Given the description of an element on the screen output the (x, y) to click on. 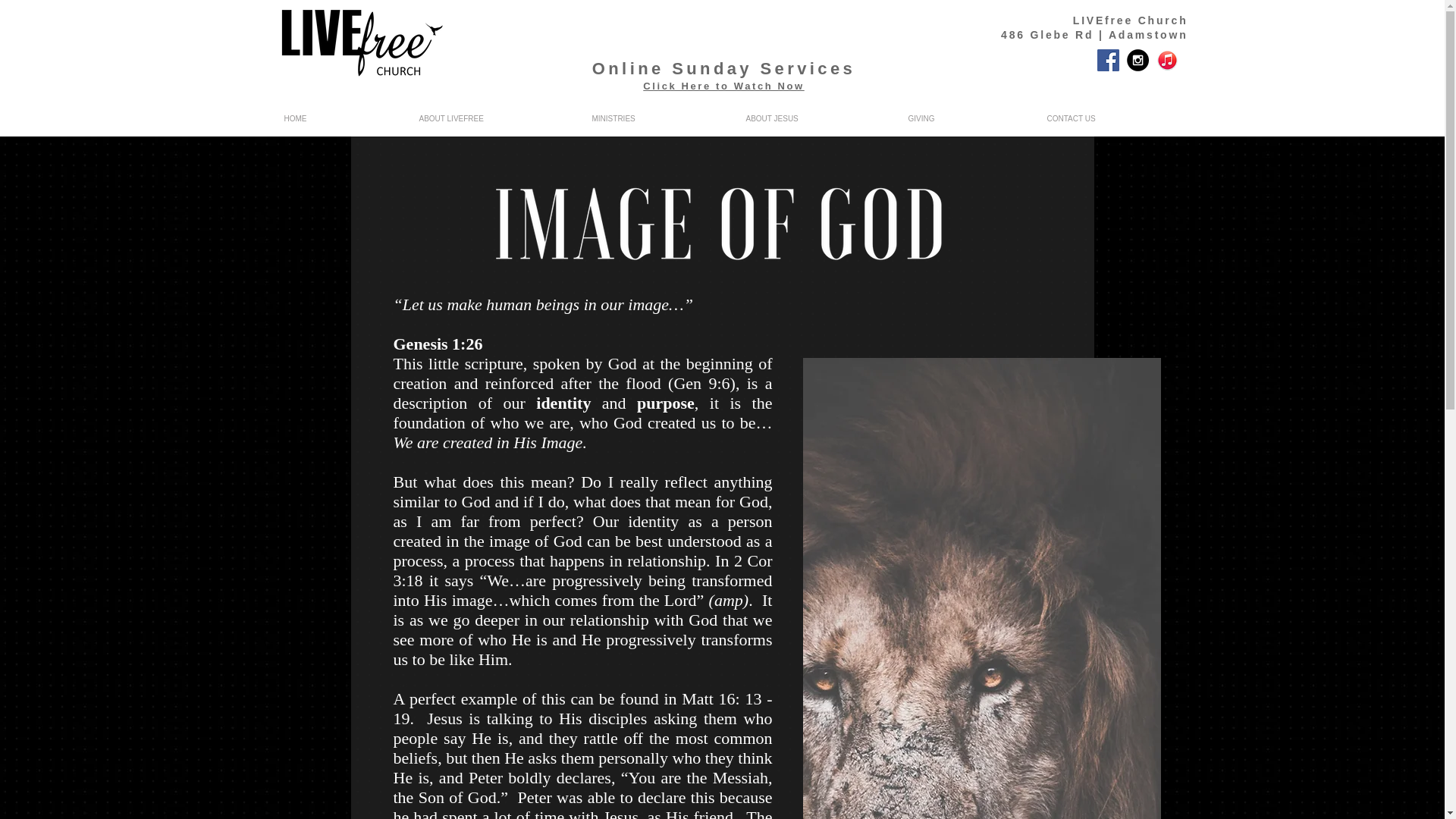
HOME (332, 118)
Online Sunday Services (724, 67)
LIVEfree Church (1130, 20)
Click Here to Watch Now (723, 85)
ABOUT LIVEFREE (486, 118)
GIVING (957, 118)
ABOUT JESUS (807, 118)
